Given the description of an element on the screen output the (x, y) to click on. 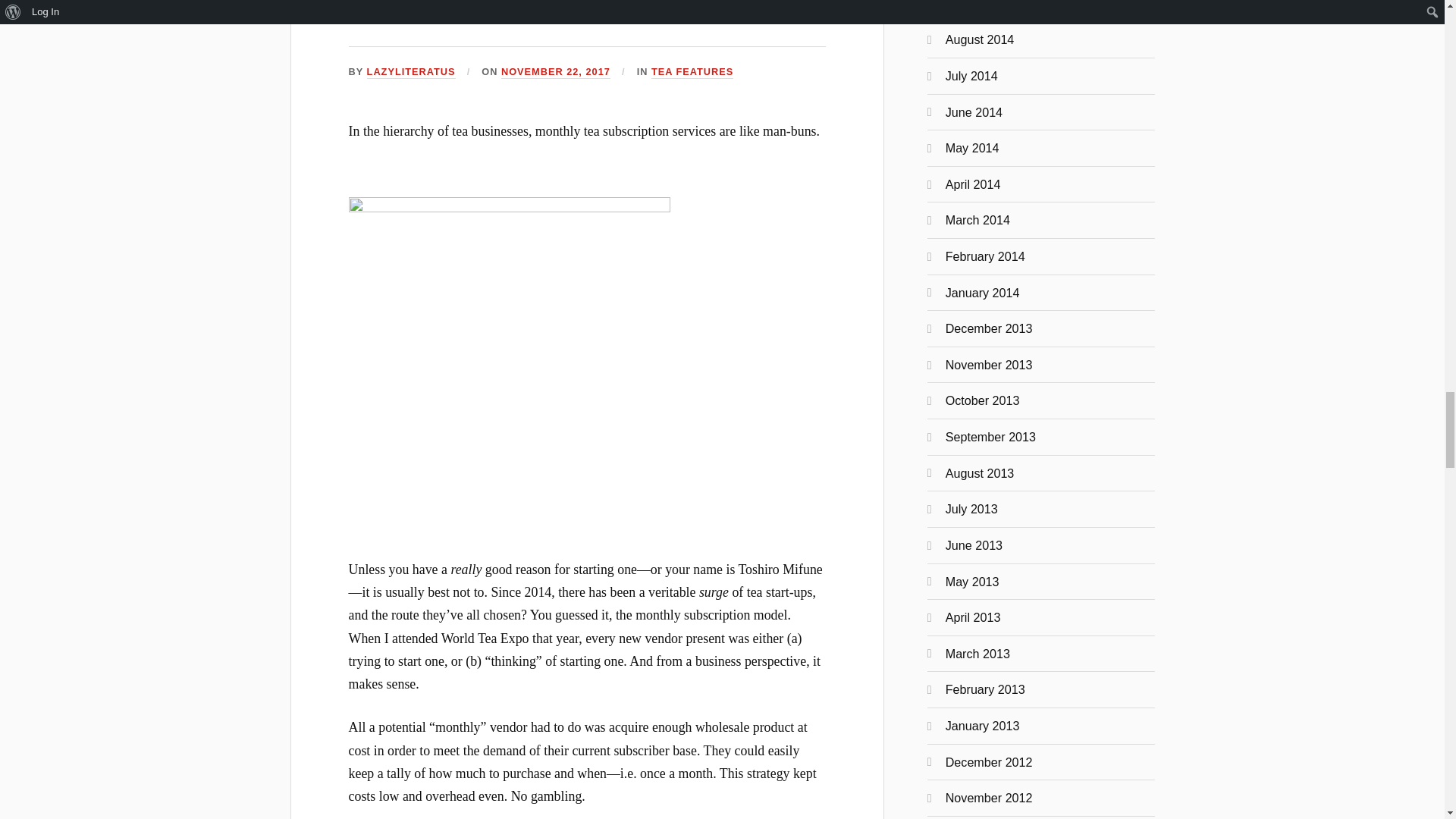
A Tea Leaf on the Wind (518, 13)
Posts by lazyliteratus (410, 72)
NOVEMBER 22, 2017 (555, 72)
LAZYLITERATUS (410, 72)
TEA FEATURES (691, 72)
